Given the description of an element on the screen output the (x, y) to click on. 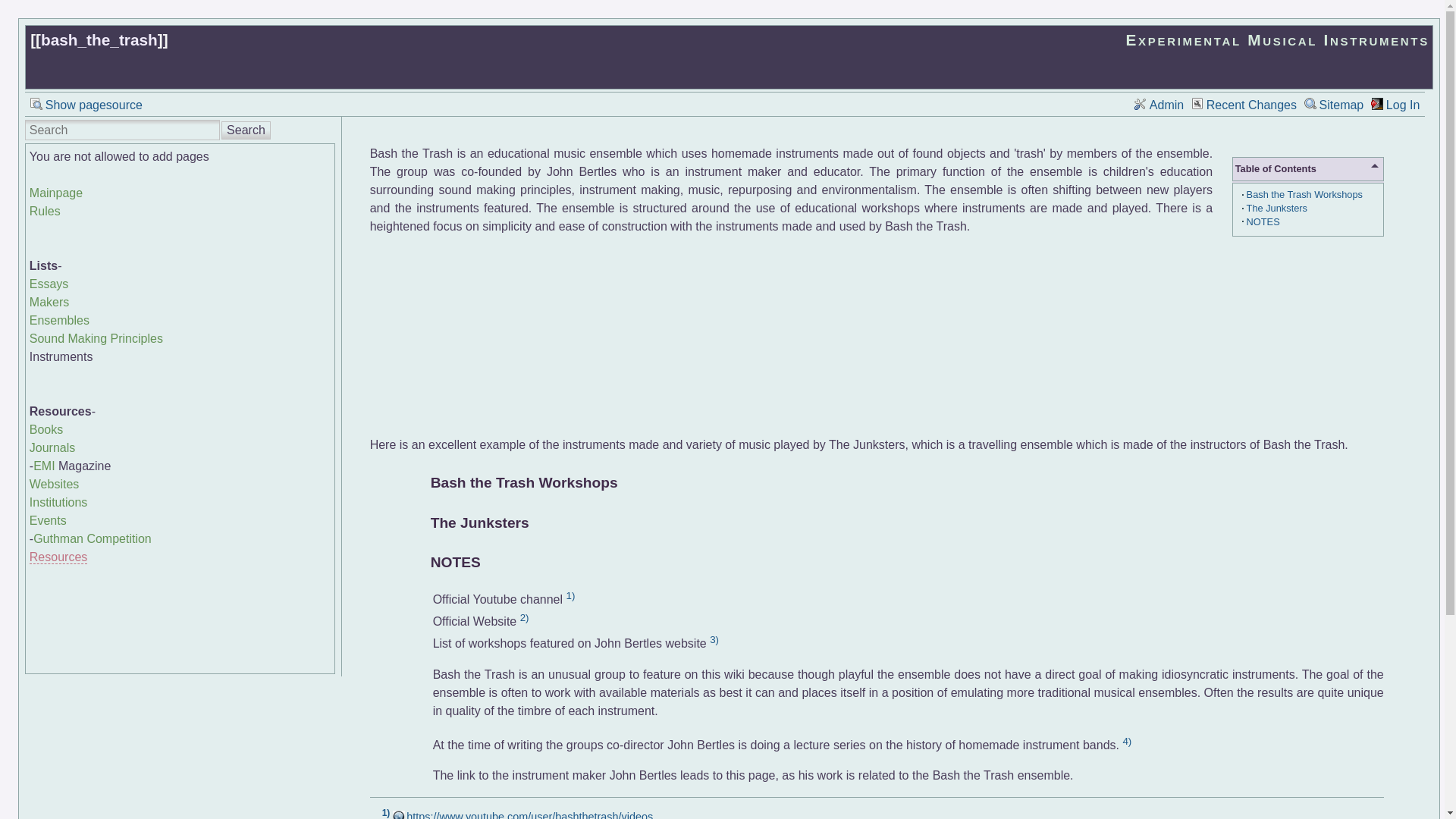
Guthman Competition (92, 538)
Events (47, 520)
Resources (58, 557)
Admin (1158, 104)
Websites (54, 483)
Journals (52, 447)
The Junksters (1276, 207)
Log In (1395, 104)
Bash the Trash Workshops (1304, 194)
ensembles (58, 319)
